Given the description of an element on the screen output the (x, y) to click on. 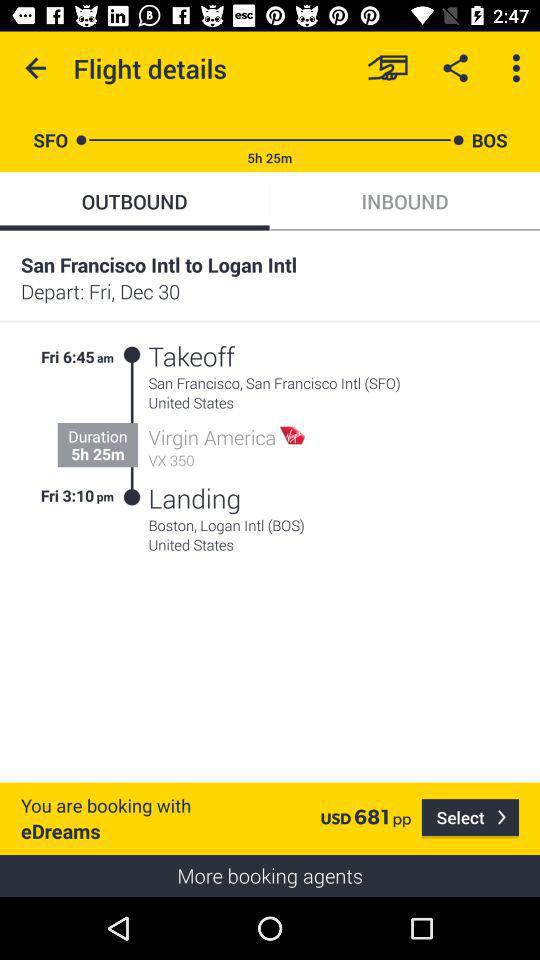
book the flight (387, 67)
